Given the description of an element on the screen output the (x, y) to click on. 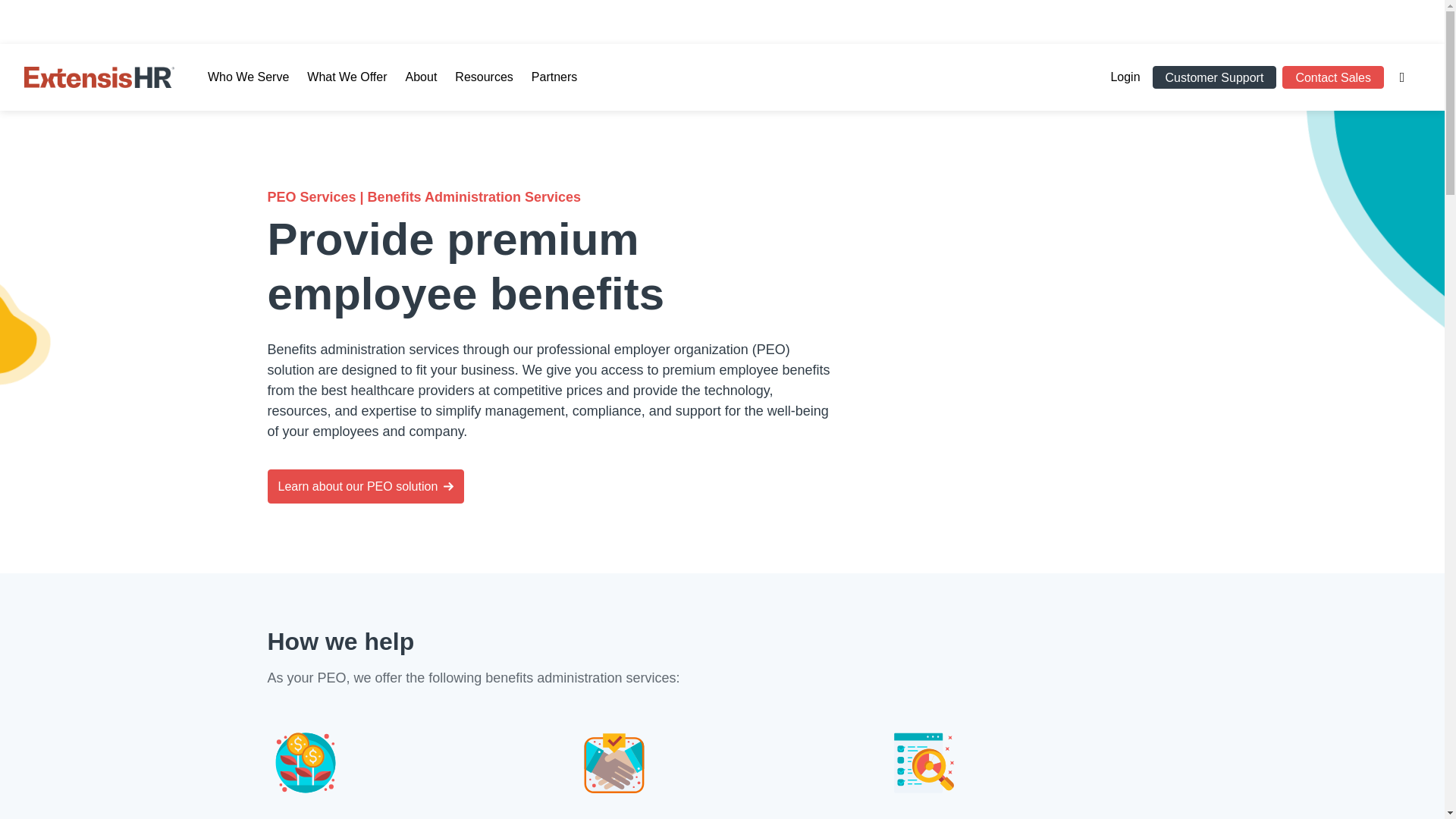
Who We Serve (248, 88)
What We Offer (347, 88)
